Given the description of an element on the screen output the (x, y) to click on. 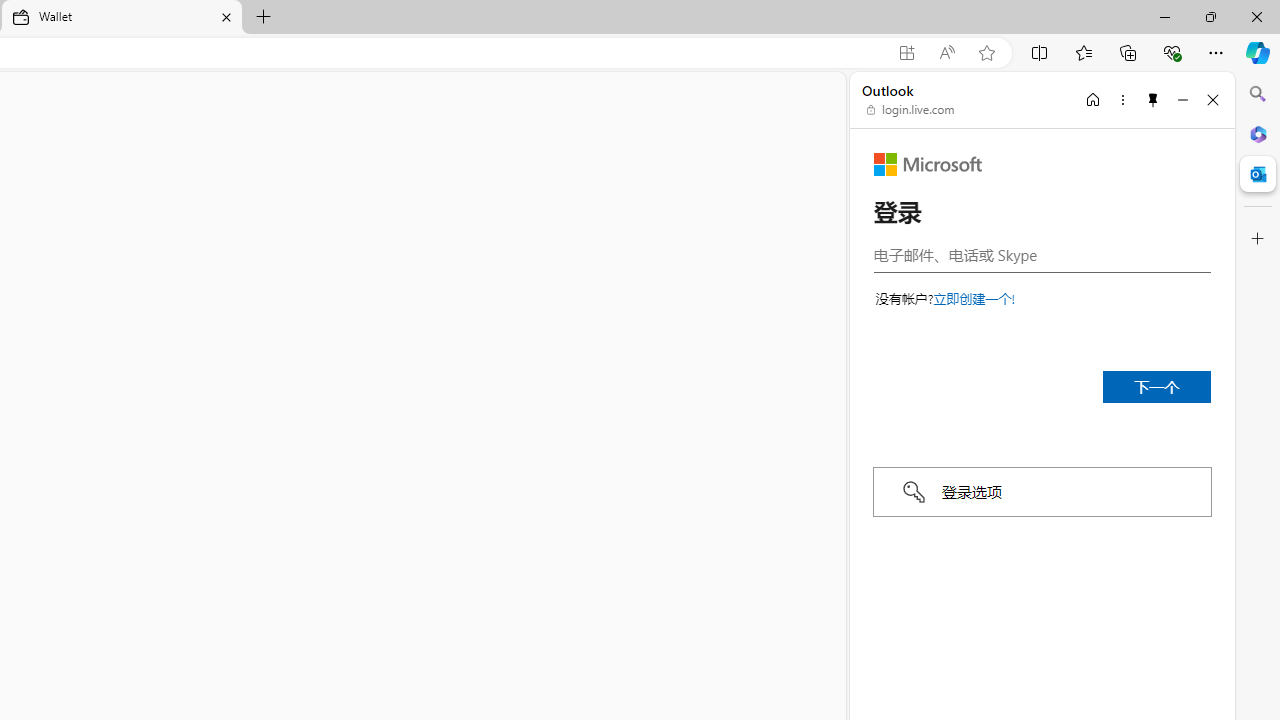
login.live.com (911, 110)
App available. Install Microsoft Wallet (906, 53)
Unpin side pane (1153, 99)
